Given the description of an element on the screen output the (x, y) to click on. 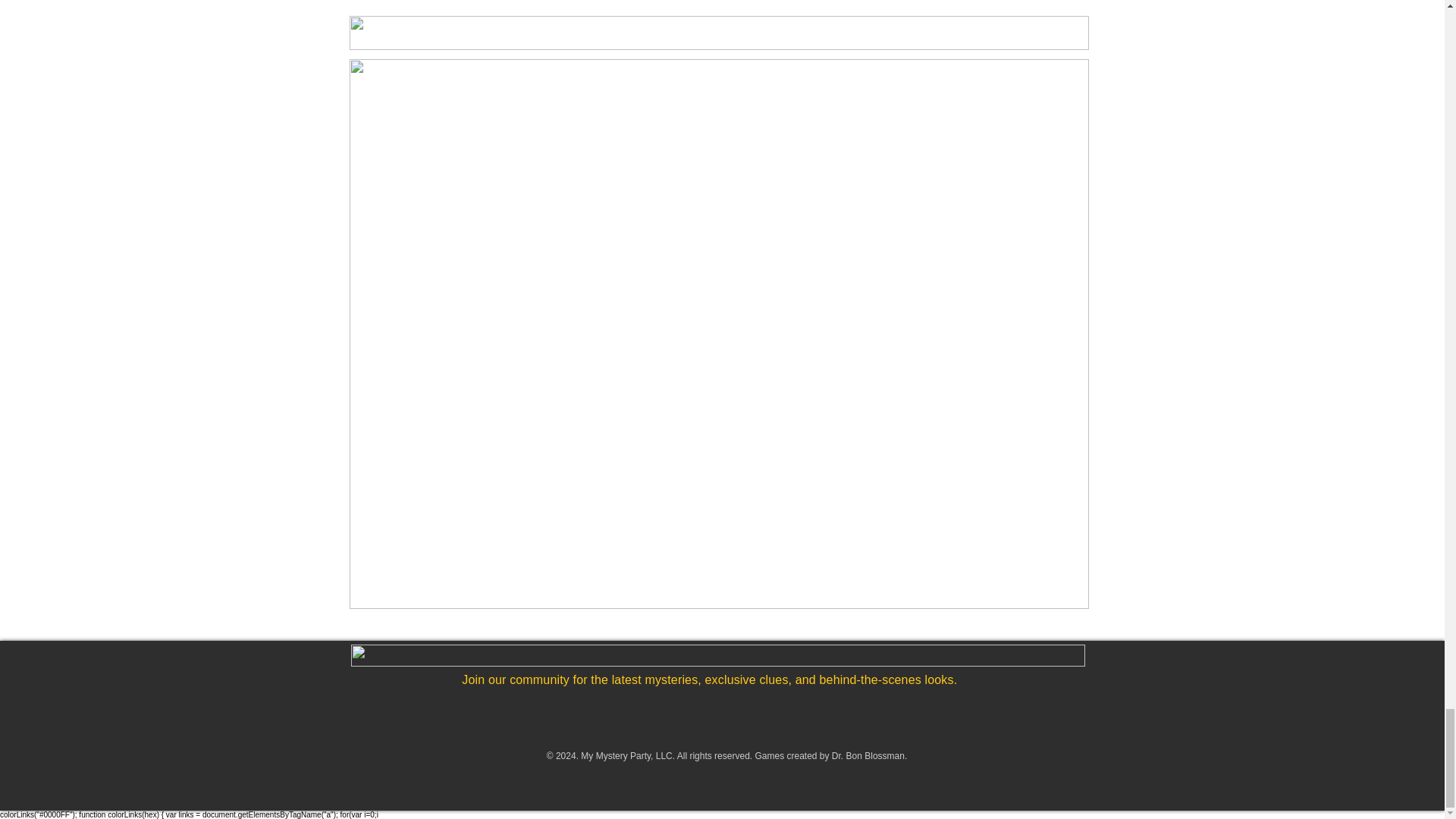
caution.png (718, 32)
